Given the description of an element on the screen output the (x, y) to click on. 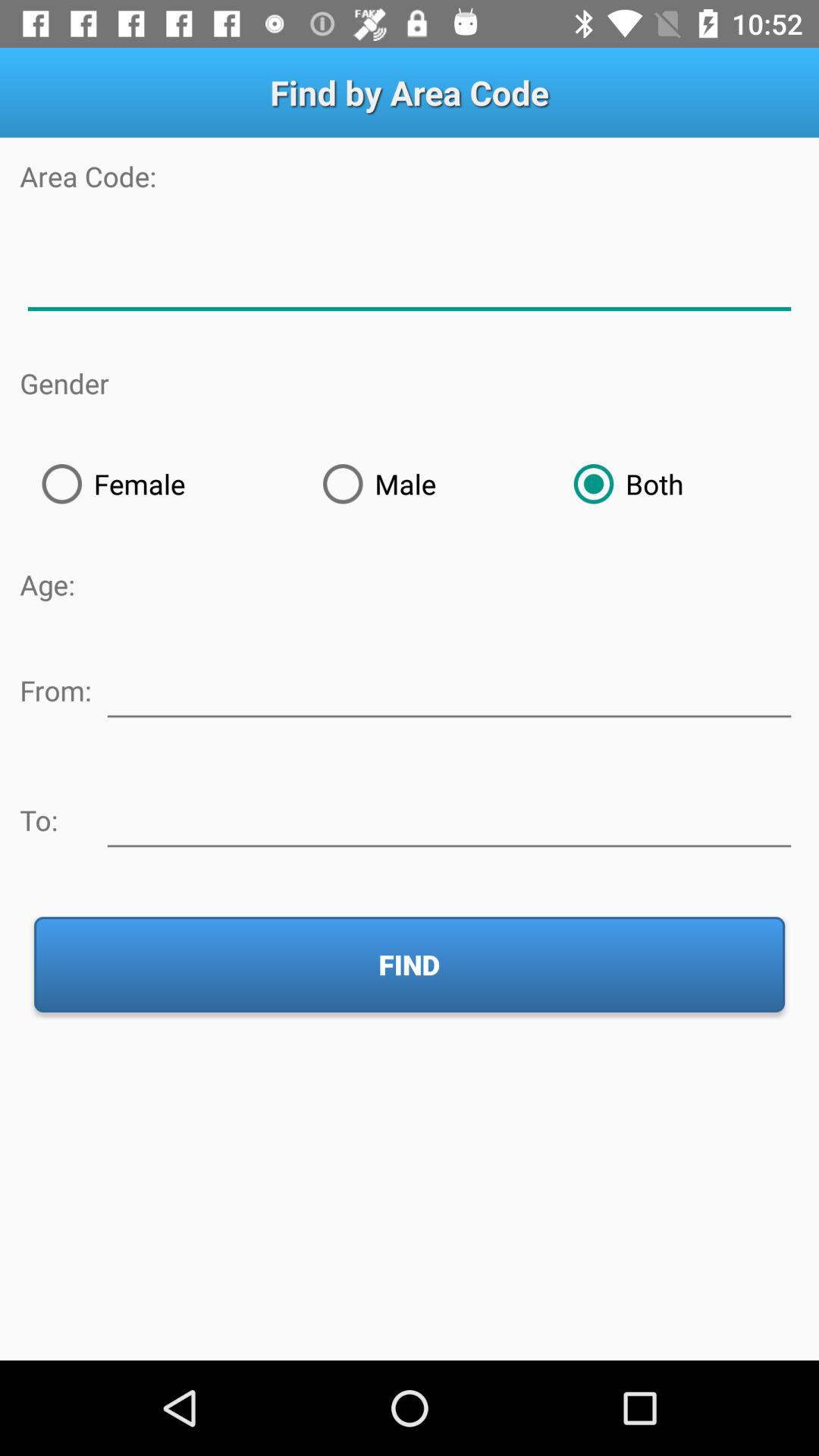
type recipient (449, 817)
